Given the description of an element on the screen output the (x, y) to click on. 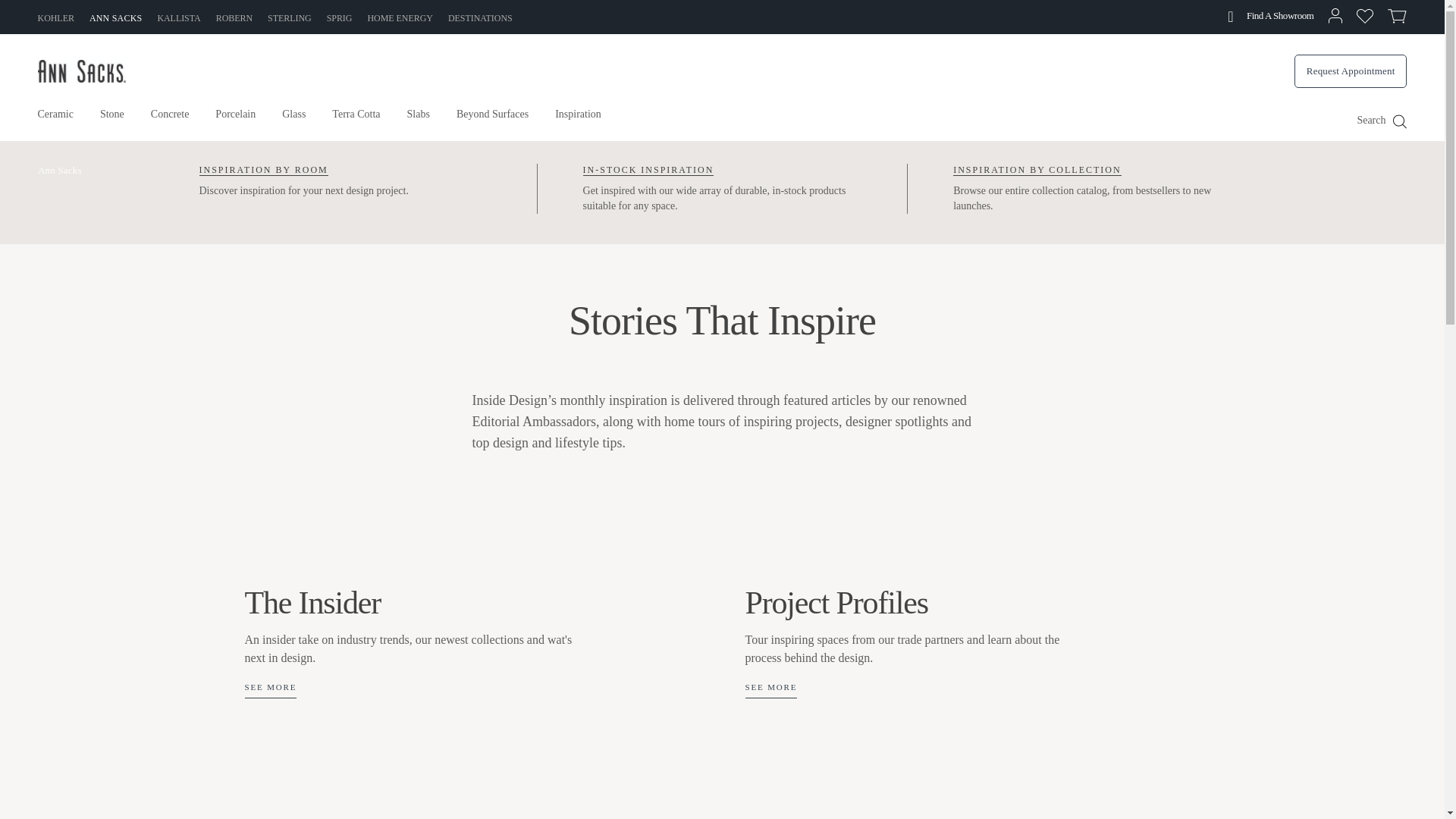
Porcelain (480, 17)
Request Appointment (235, 120)
Concrete (114, 17)
Stone (1350, 70)
Find A Showroom (170, 120)
Ceramic (399, 17)
Terra Cotta (289, 17)
